Given the description of an element on the screen output the (x, y) to click on. 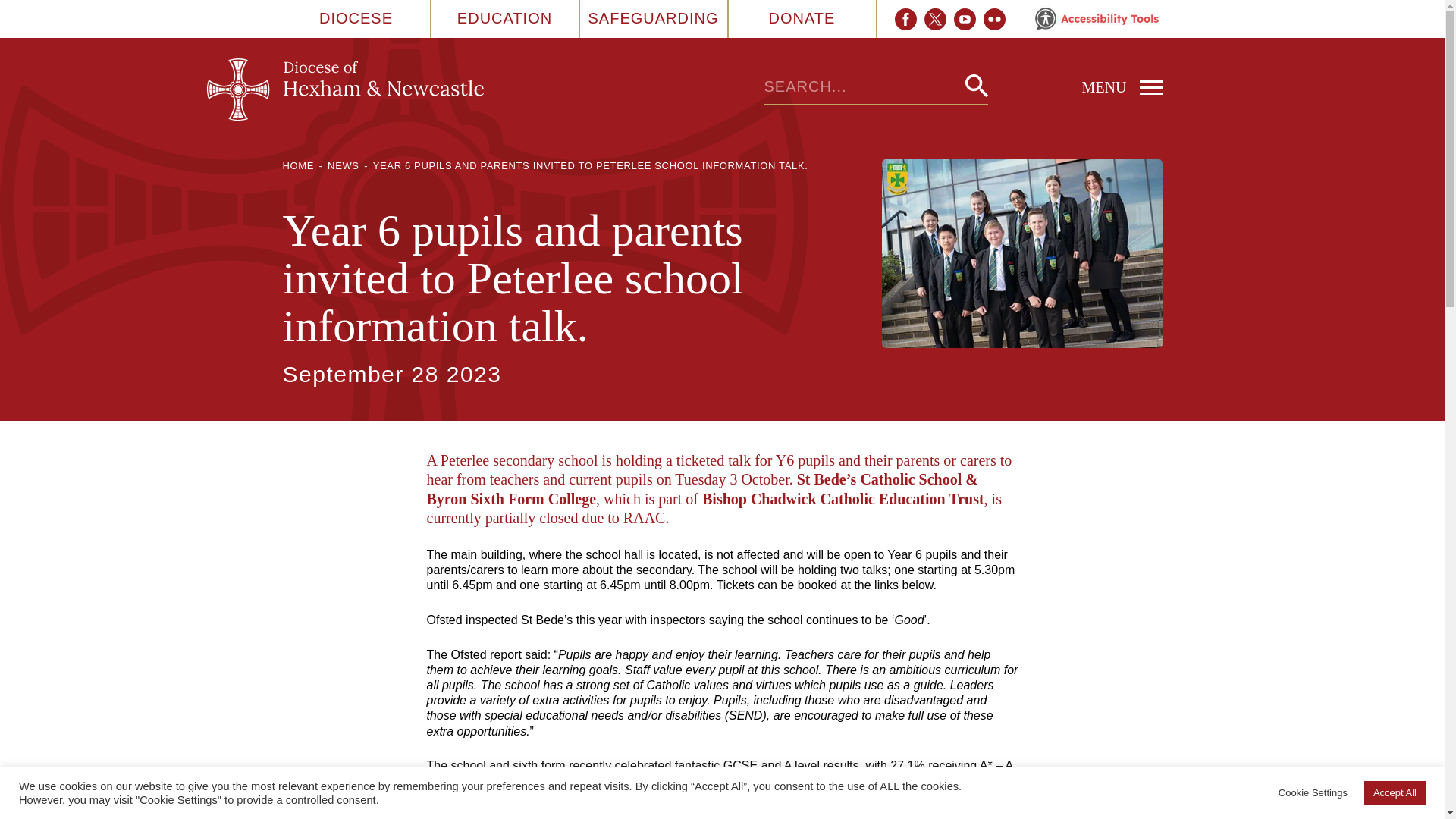
Go to News. (343, 165)
MENU (1074, 86)
SAFEGUARDING (652, 18)
DONATE (801, 18)
EDUCATION (504, 18)
DIOCESE (355, 18)
